Given the description of an element on the screen output the (x, y) to click on. 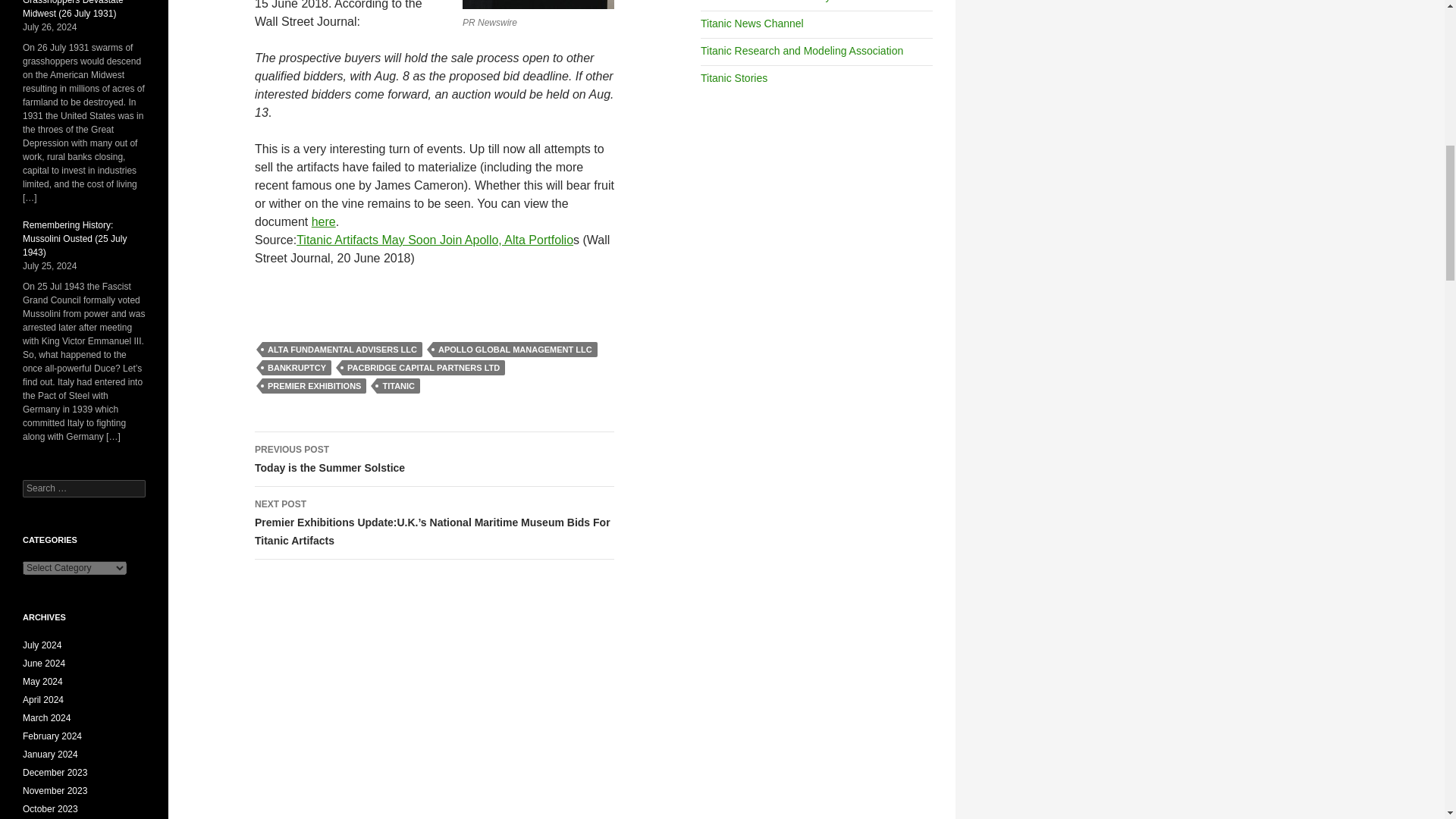
Titanic International Society (764, 1)
here (323, 221)
ALTA FUNDAMENTAL ADVISERS LLC (342, 349)
PREMIER EXHIBITIONS (314, 385)
News reports on Titanic and related information. (751, 23)
PACBRIDGE CAPITAL PARTNERS LTD (423, 367)
APOLLO GLOBAL MANAGEMENT LLC (514, 349)
TITANIC (398, 385)
BANKRUPTCY (296, 367)
Titanic Artifacts May Soon Join Apollo, Alta Portfolio (435, 239)
Titanic News Channel (751, 23)
